Given the description of an element on the screen output the (x, y) to click on. 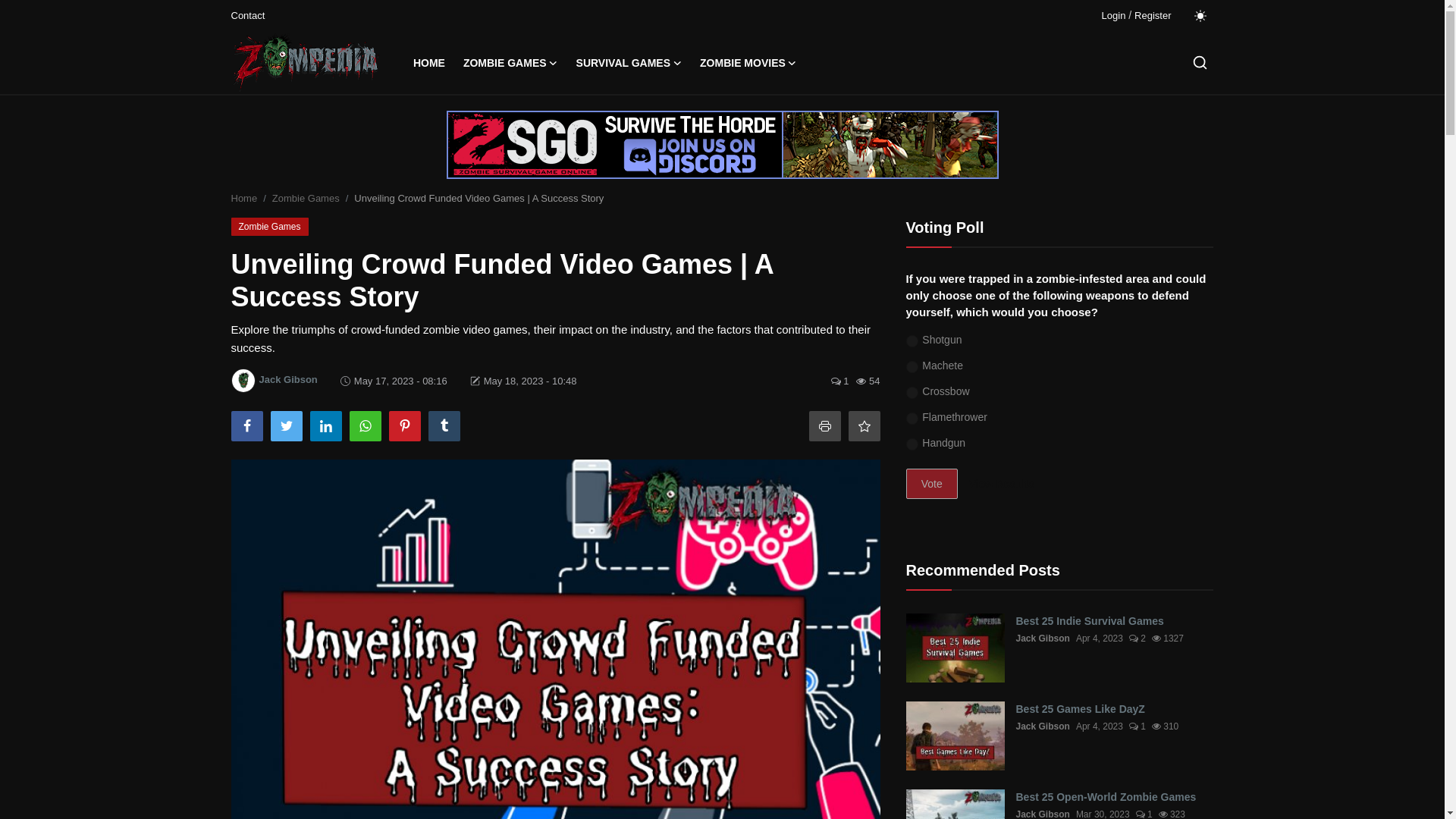
option2 (911, 367)
Contact (247, 15)
Zombie Game Discord (721, 144)
ZOMBIE GAMES (510, 62)
option4 (911, 418)
option1 (911, 341)
SURVIVAL GAMES (628, 62)
option5 (911, 444)
Add to Reading List (863, 426)
light (1199, 15)
option3 (911, 392)
ZOMBIE MOVIES (748, 62)
Register (1152, 15)
Login (1113, 15)
